Given the description of an element on the screen output the (x, y) to click on. 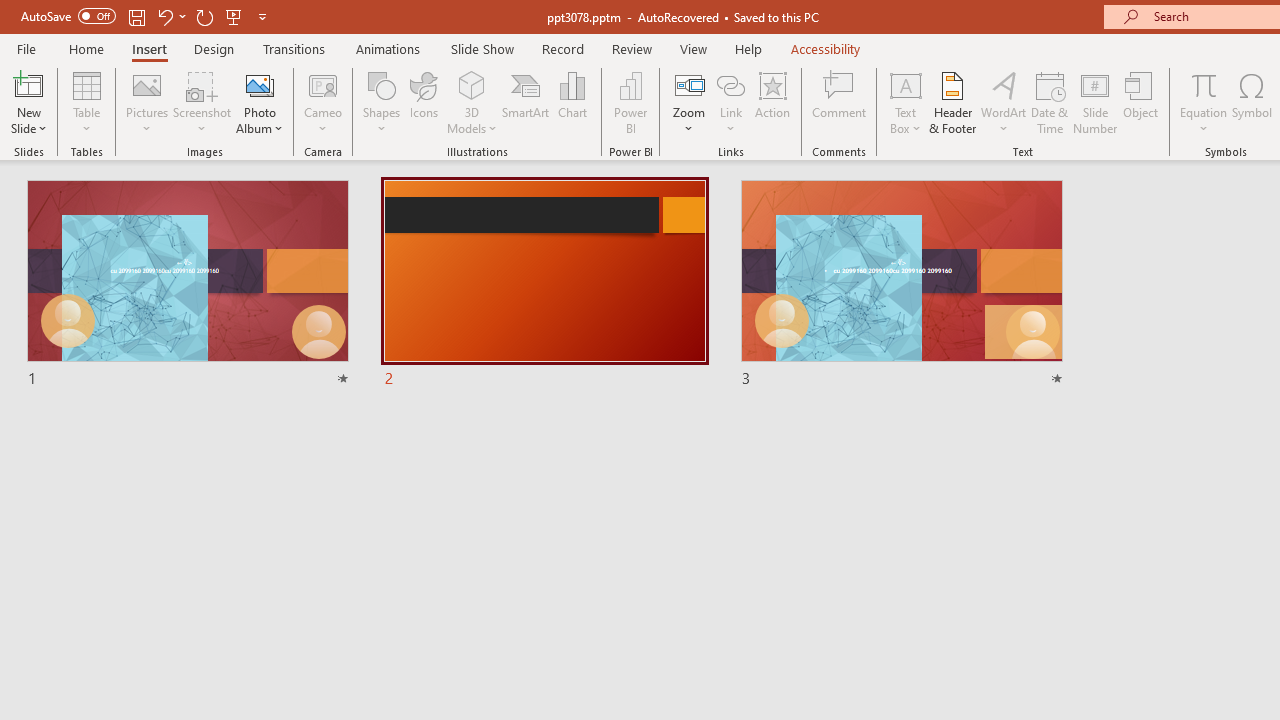
Slide Number (1095, 102)
Transitions (294, 48)
Design (214, 48)
New Photo Album... (259, 84)
Action (772, 102)
Equation (1203, 84)
Quick Access Toolbar (145, 16)
Slide (901, 284)
Help (748, 48)
3D Models (472, 84)
Chart... (572, 102)
Link (731, 102)
SmartArt... (525, 102)
